Given the description of an element on the screen output the (x, y) to click on. 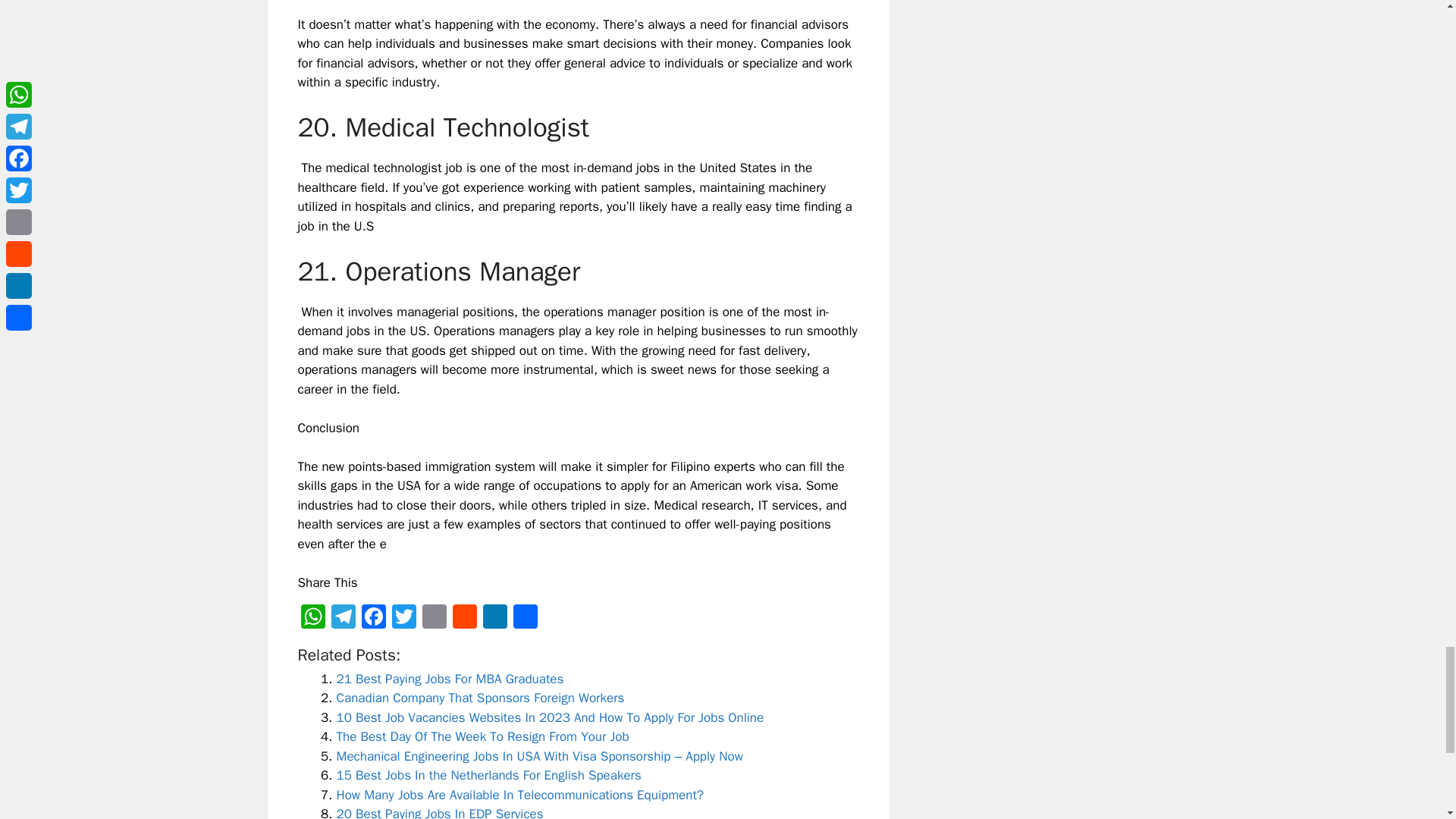
Canadian Company That Sponsors Foreign Workers (480, 697)
Telegram (342, 618)
The Best Day Of The Week To Resign From Your Job (482, 736)
Canadian Company That Sponsors Foreign Workers (480, 697)
Share (524, 618)
Reddit (463, 618)
WhatsApp (312, 618)
Telegram (342, 618)
